Given the description of an element on the screen output the (x, y) to click on. 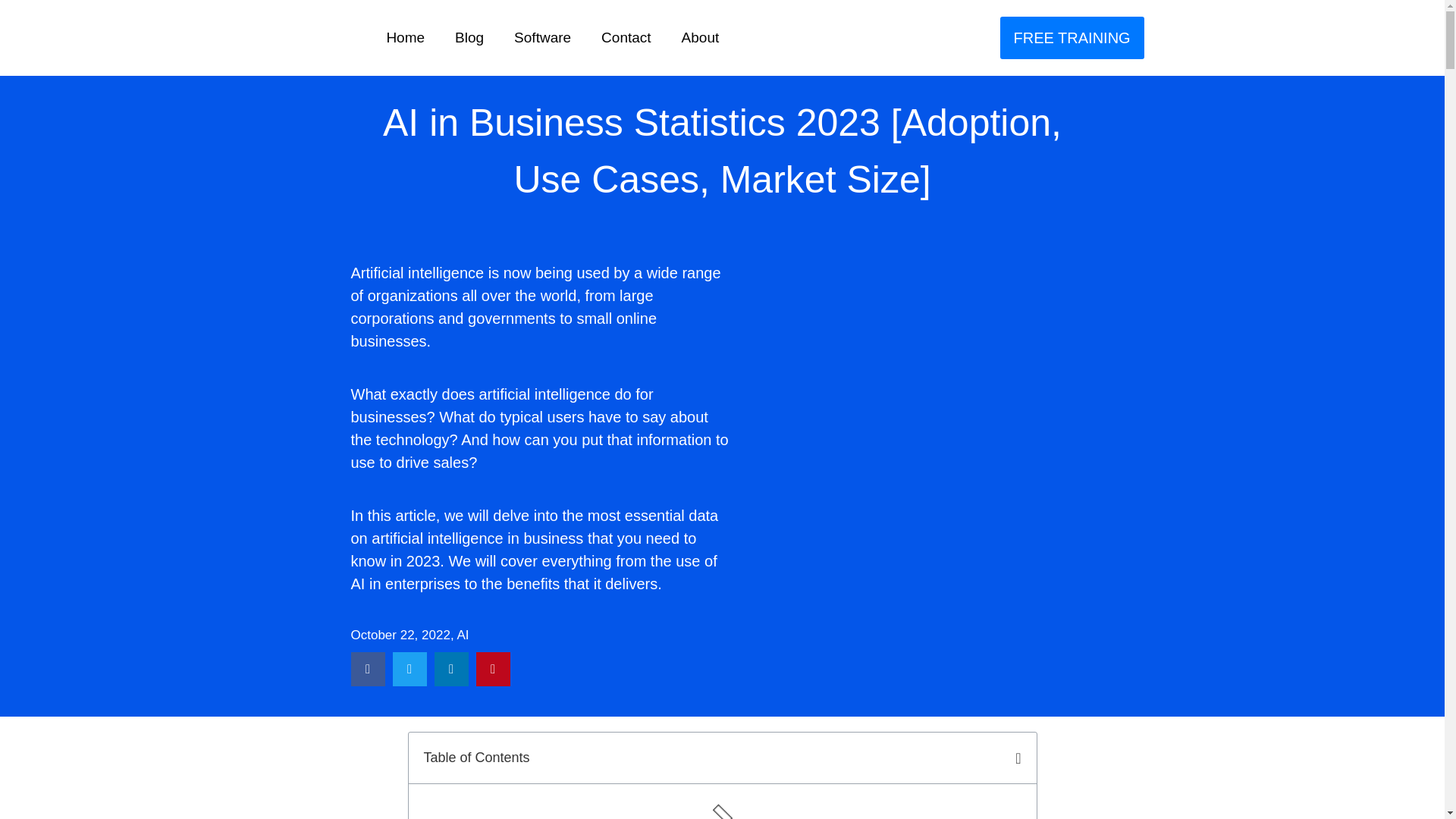
AI (462, 635)
FREE TRAINING (1072, 37)
Blog (469, 37)
October 22, 2022 (399, 635)
Software (542, 37)
Contact (625, 37)
Home (405, 37)
About (700, 37)
